Given the description of an element on the screen output the (x, y) to click on. 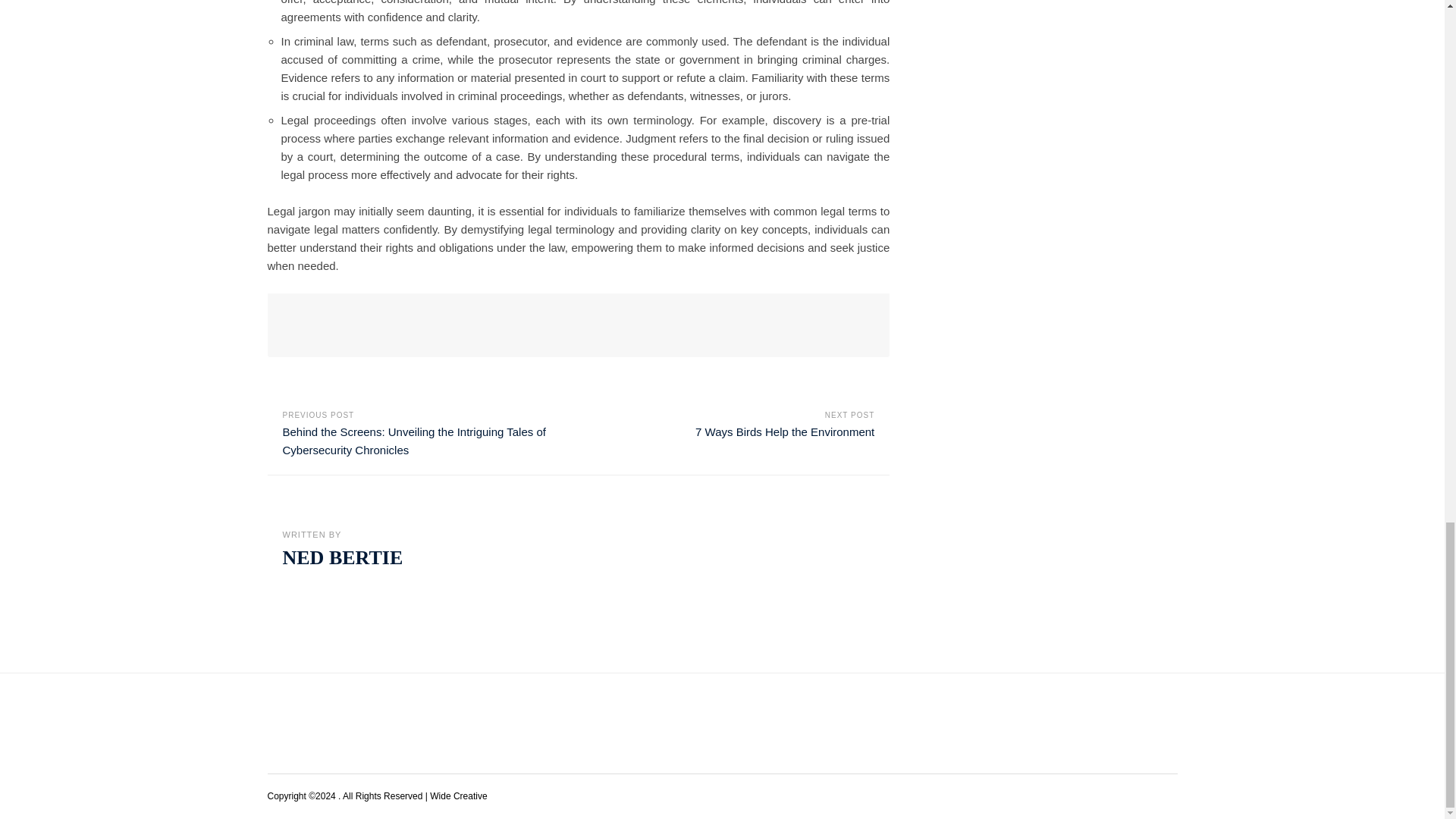
7 Ways Birds Help the Environment (785, 431)
NED BERTIE (342, 557)
